Given the description of an element on the screen output the (x, y) to click on. 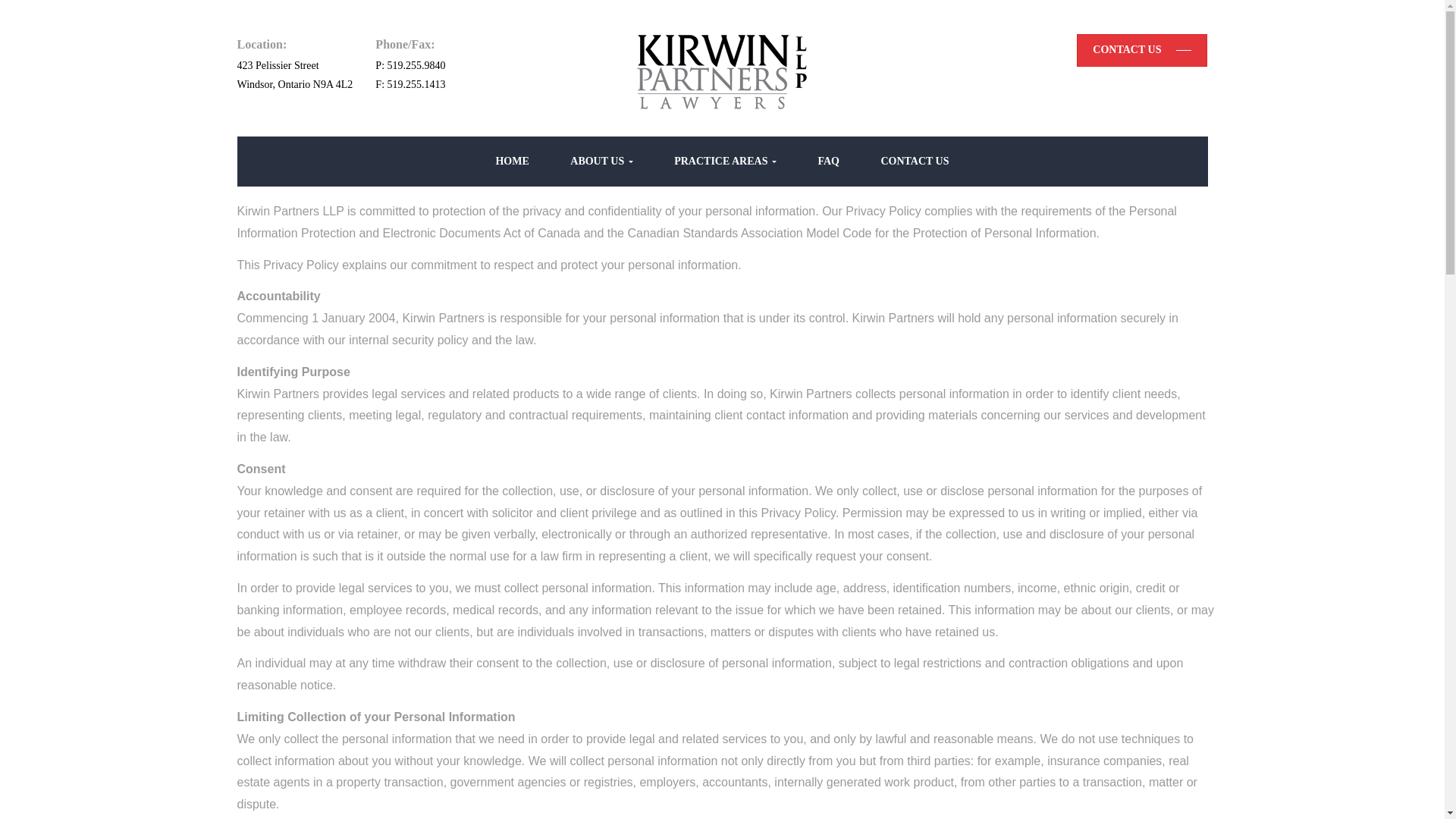
CONTACT US (914, 161)
CONTACT US (1142, 50)
FAQ (828, 161)
PRACTICE AREAS (724, 161)
ABOUT US (600, 161)
HOME (511, 161)
